Given the description of an element on the screen output the (x, y) to click on. 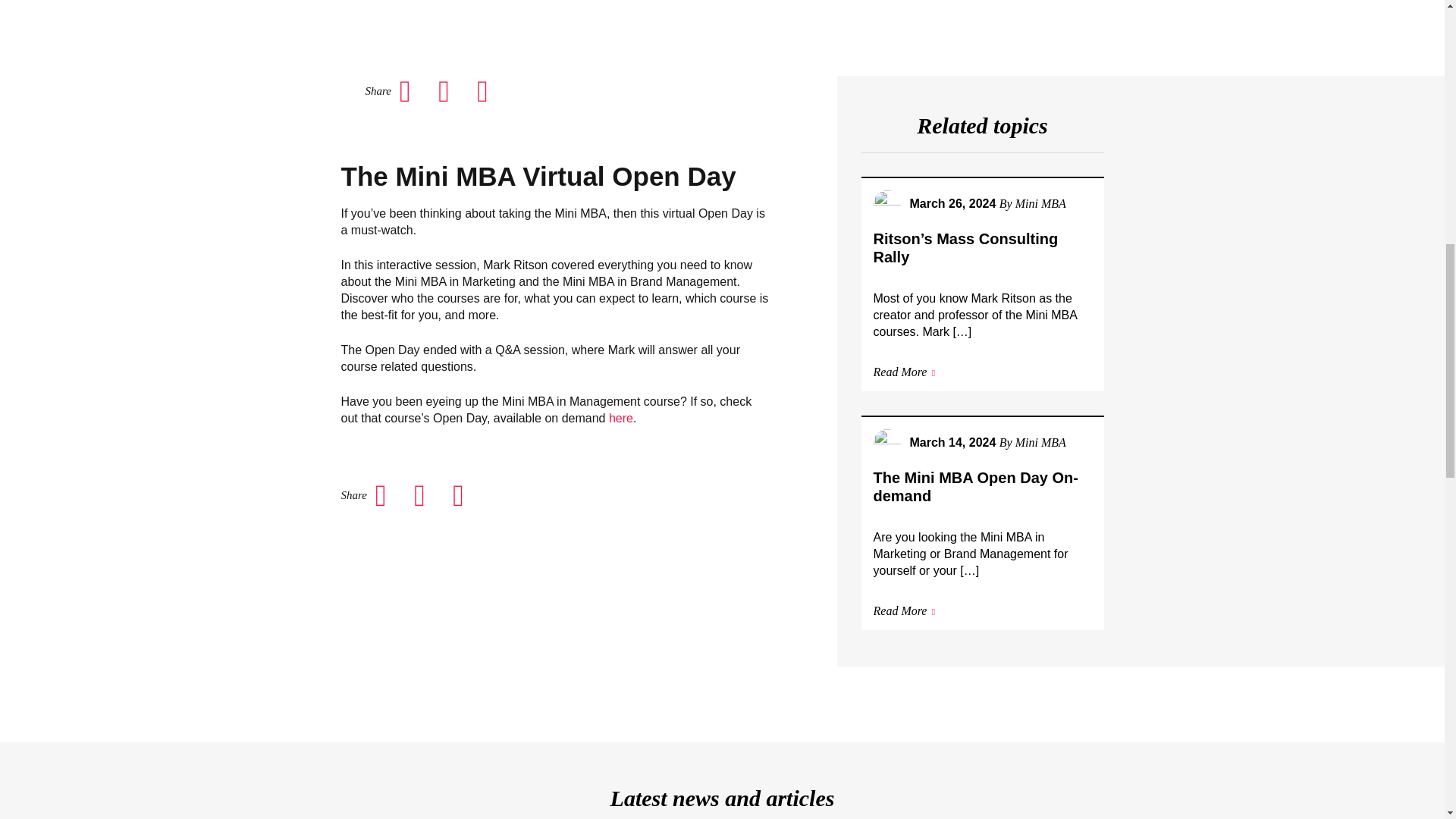
Posts by Mini MBA (1039, 441)
Posts by Mini MBA (1039, 203)
